Given the description of an element on the screen output the (x, y) to click on. 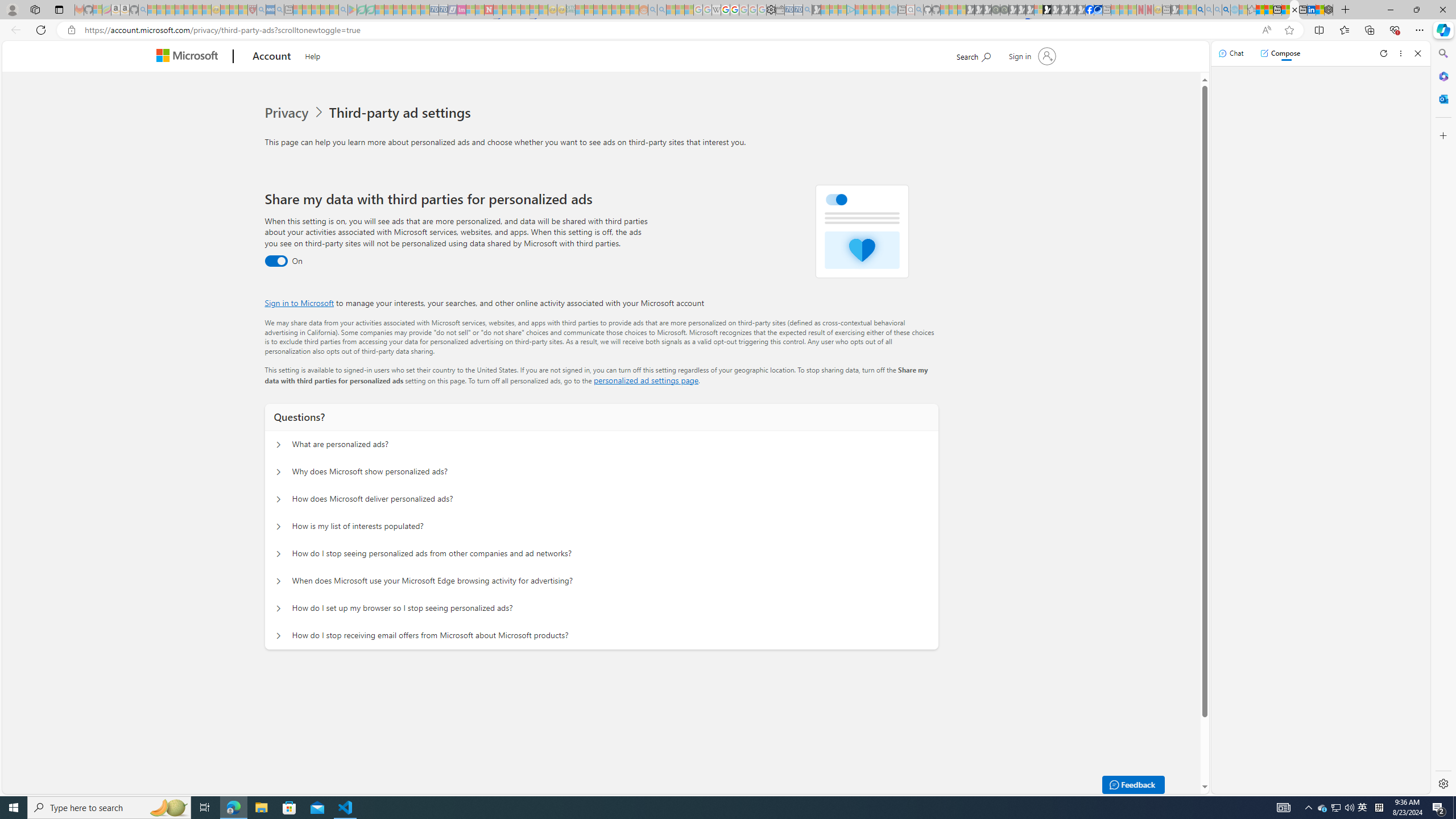
Bing AI - Search (1200, 9)
Google Chrome Internet Browser Download - Search Images (1225, 9)
AQI & Health | AirNow.gov (1098, 9)
Privacy Help Center - Policies Help (725, 9)
